Given the description of an element on the screen output the (x, y) to click on. 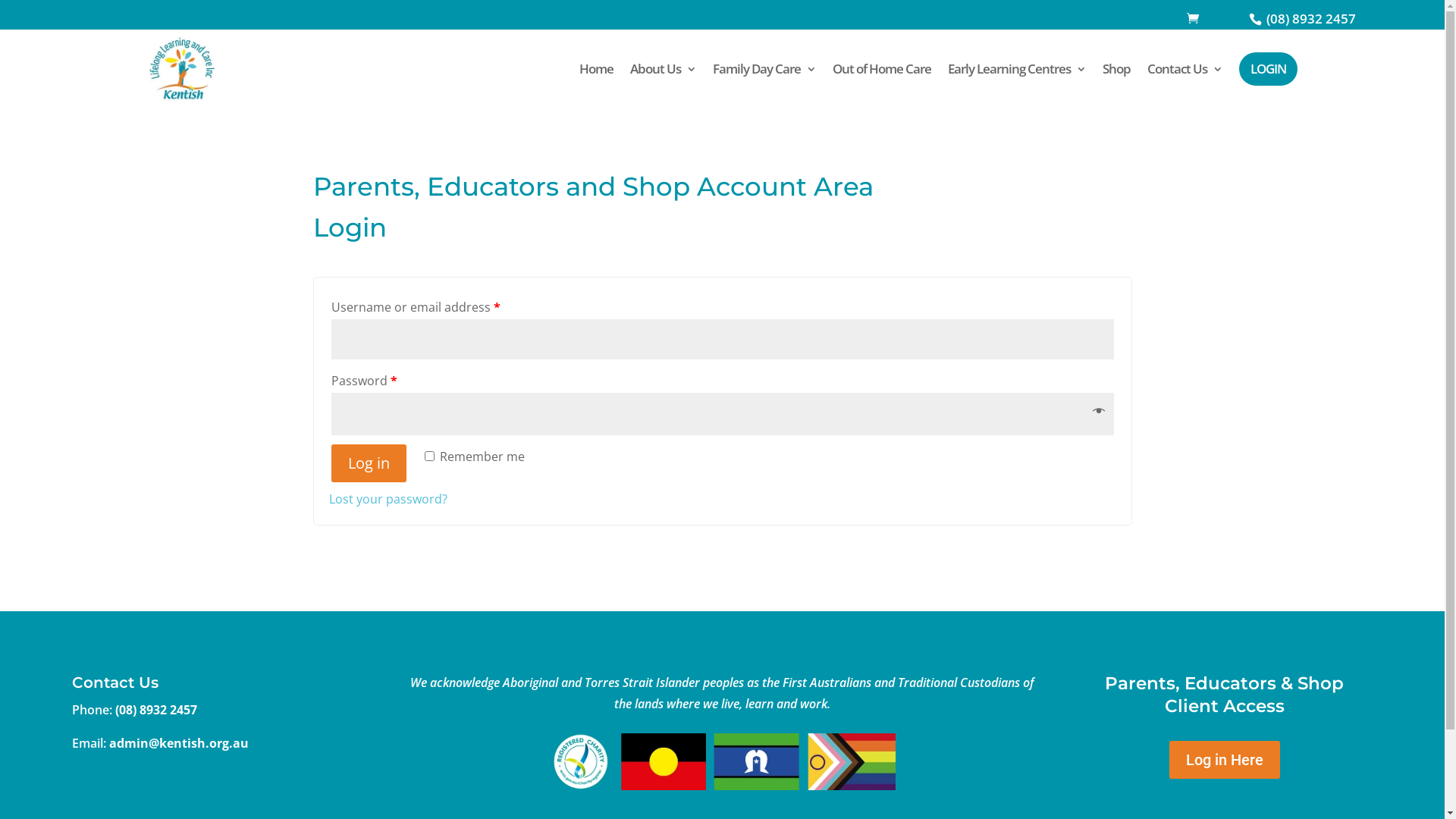
Family Day Care Element type: text (763, 68)
Lost your password? Element type: text (388, 498)
Out of Home Care Element type: text (881, 68)
Home Element type: text (596, 68)
admin@kentish.org.au Element type: text (178, 742)
About Us Element type: text (662, 68)
Contact Us Element type: text (1183, 68)
(08) 8932 2457 Element type: text (156, 709)
Log in Here Element type: text (1224, 759)
flags Element type: hover (722, 761)
(08) 8932 2457 Element type: text (1309, 18)
LOGIN Element type: text (1268, 68)
Early Learning Centres Element type: text (1016, 68)
Log in Element type: text (367, 463)
Shop Element type: text (1116, 68)
